Given the description of an element on the screen output the (x, y) to click on. 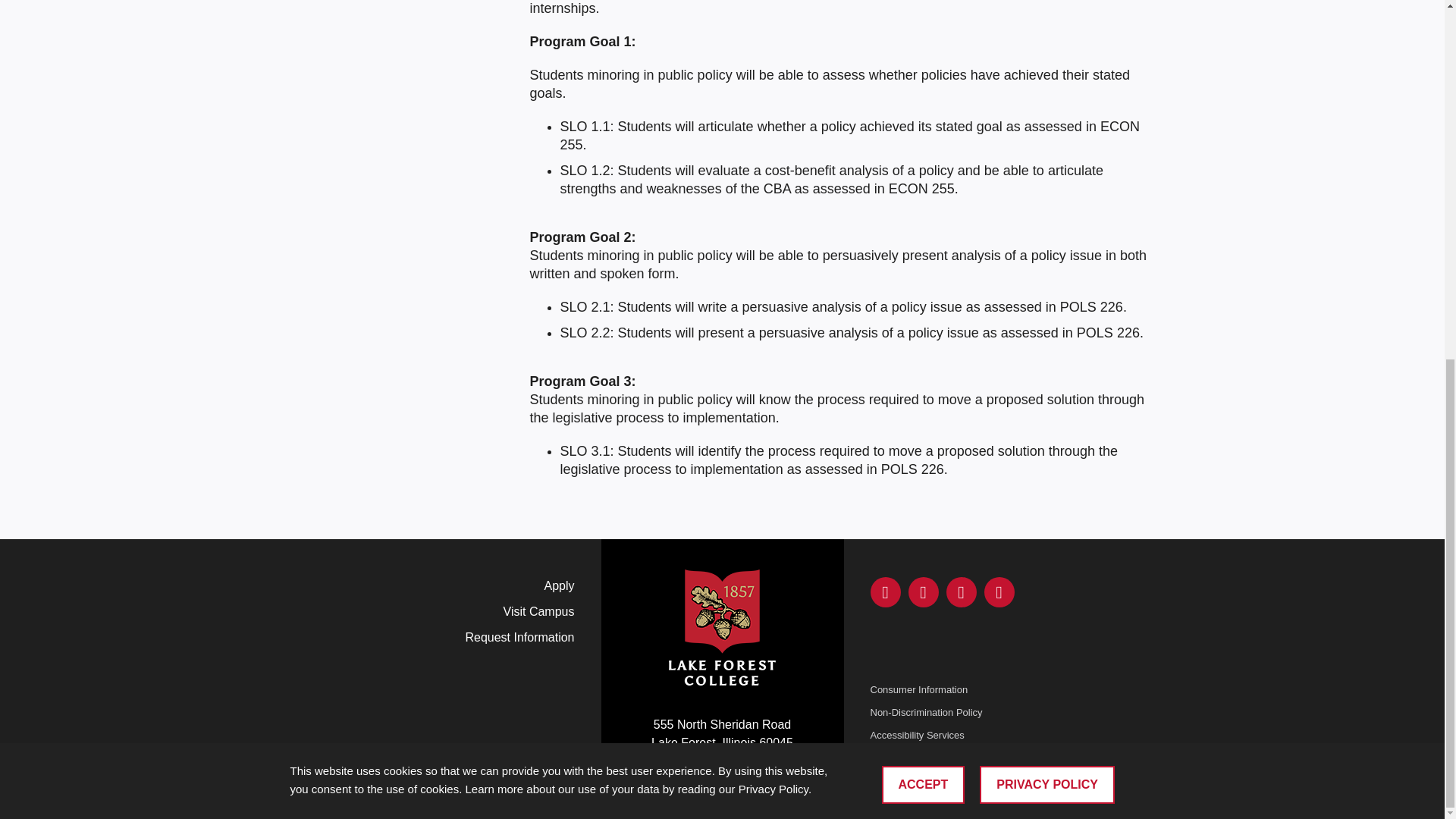
Privacy (558, 756)
Apply (558, 585)
ACCEPT (921, 148)
Apply (558, 585)
PRIVACY POLICY (1047, 148)
Privacy Policy (1047, 148)
Request Information (518, 636)
Visit Campus (539, 611)
